Given the description of an element on the screen output the (x, y) to click on. 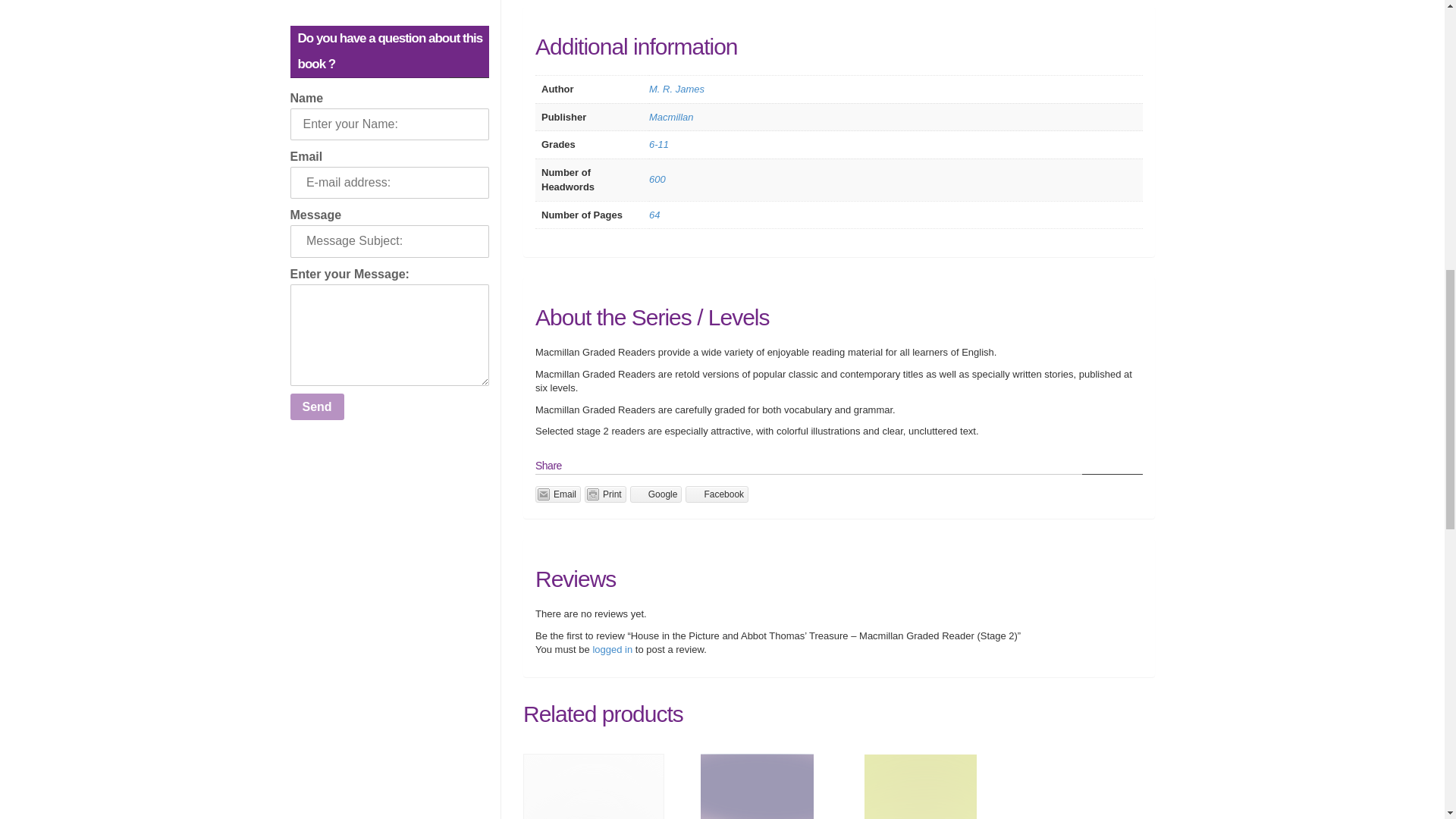
Click to print (605, 494)
Click to email this to a friend (557, 494)
Share on Facebook (716, 494)
